Given the description of an element on the screen output the (x, y) to click on. 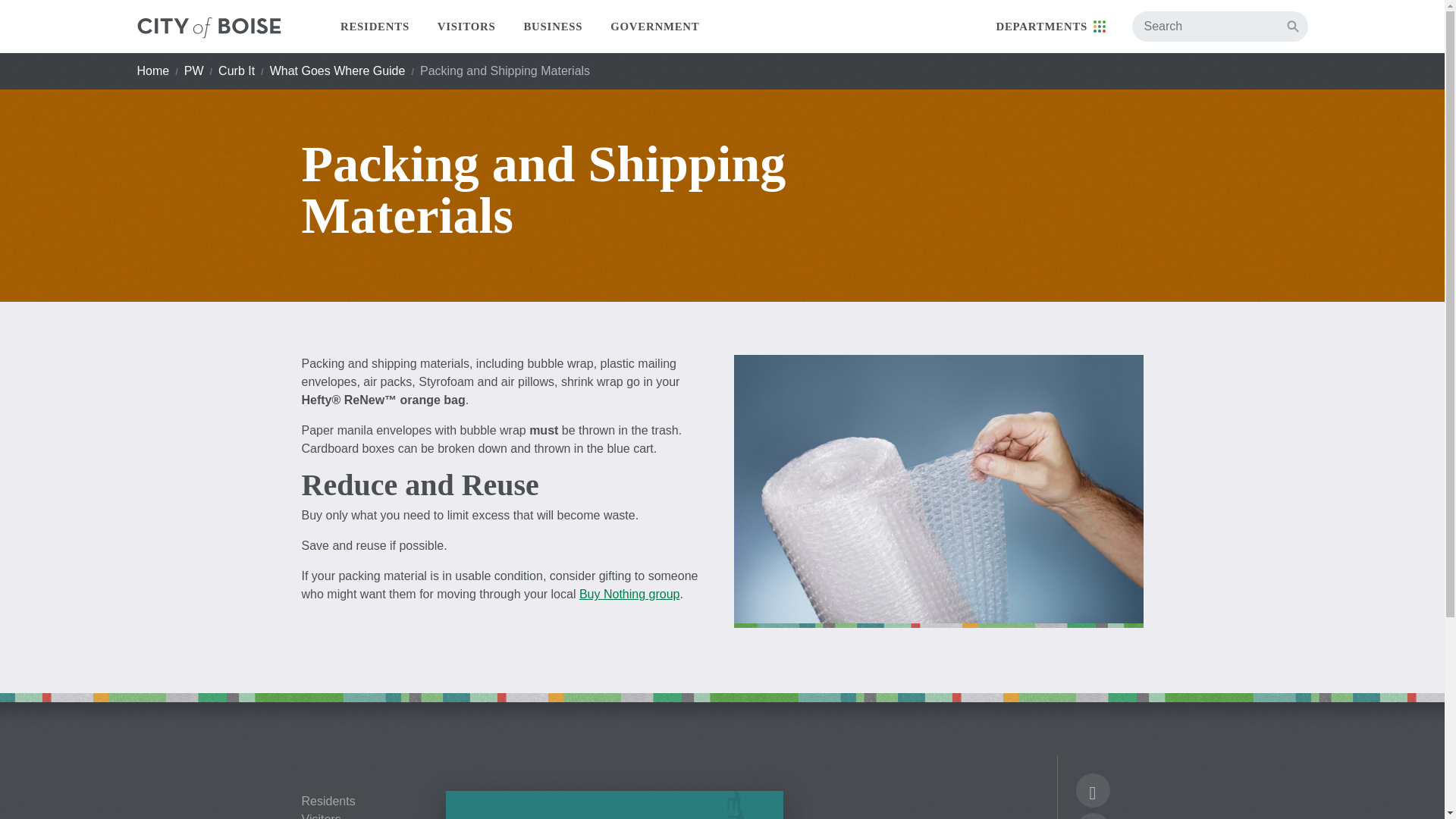
Curb It (236, 70)
RESIDENTS (374, 26)
PW (193, 70)
What Goes Where Guide (337, 70)
Visitors (362, 816)
VISITORS (466, 26)
SEARCH (1292, 26)
BUSINESS (552, 26)
Facebook (1092, 792)
Home (152, 70)
Residents (362, 801)
GOVERNMENT (654, 26)
Buy Nothing group (629, 594)
DEPARTMENTS (1050, 26)
